Given the description of an element on the screen output the (x, y) to click on. 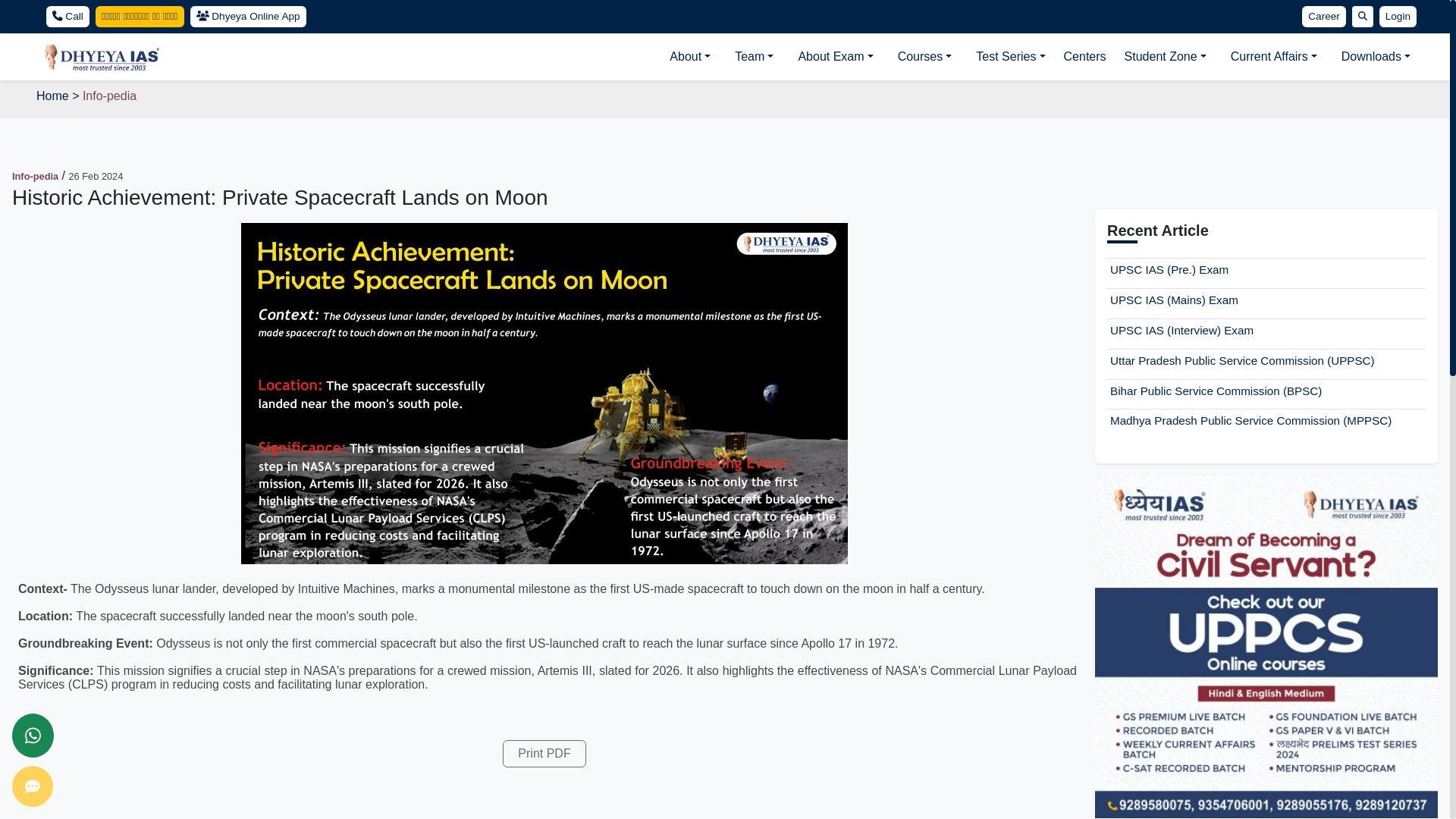
Team (753, 56)
Student Zone (1165, 56)
contact us (31, 785)
Test Series (1010, 56)
About (689, 56)
Call (67, 16)
About Exam (835, 56)
Courses (924, 56)
Login (1397, 16)
Dhyeya Online App (247, 16)
Career (1323, 16)
whatsapp (32, 735)
Centers (1085, 56)
